Given the description of an element on the screen output the (x, y) to click on. 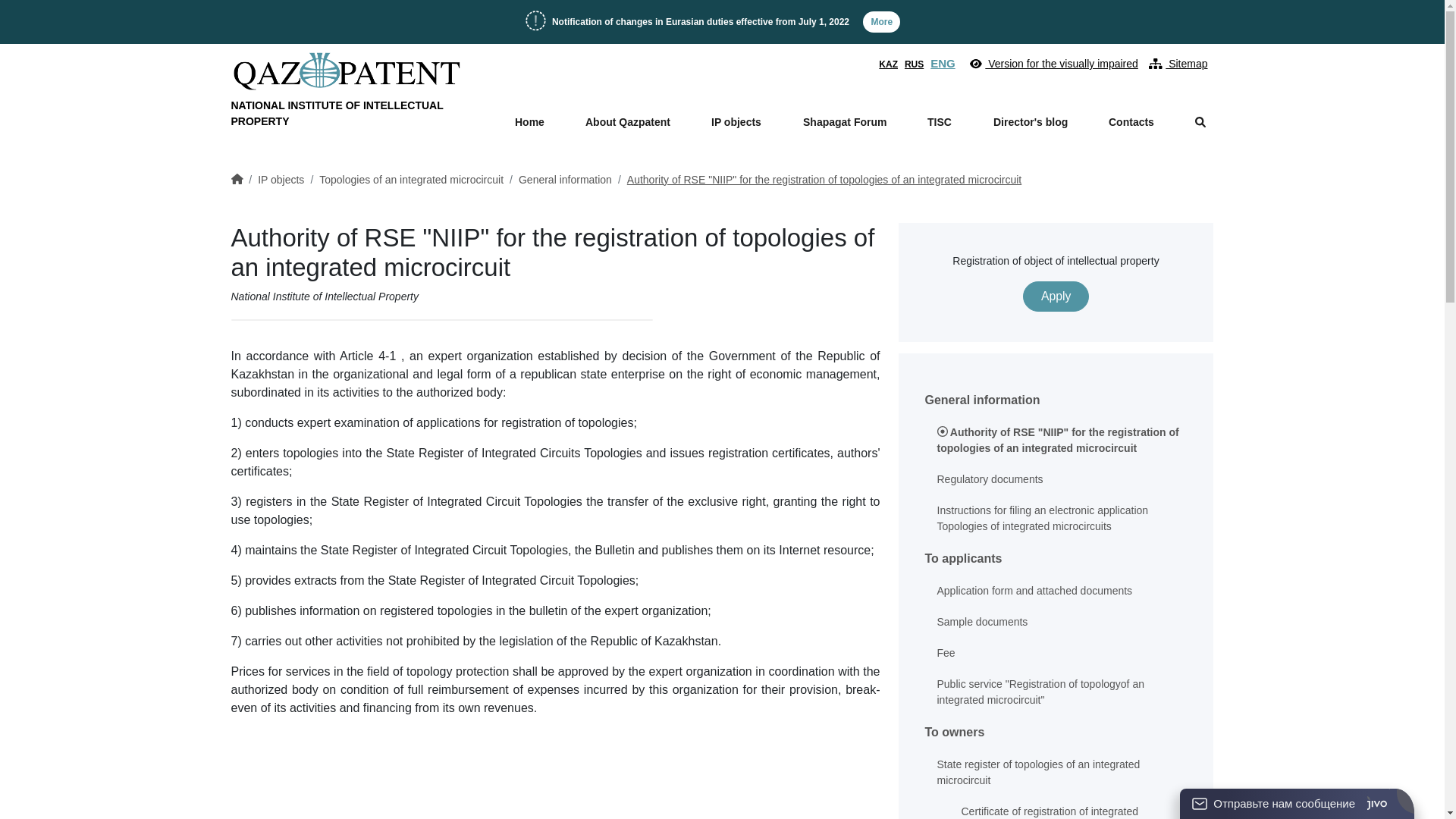
NATIONAL INSTITUTE OF INTELLECTUAL PROPERTY (346, 90)
Version for the visually impaired (1050, 64)
ENG (944, 63)
RUS (915, 64)
Home (528, 122)
More (881, 21)
Sitemap (1174, 64)
About Qazpatent (628, 122)
KAZ (890, 64)
